Given the description of an element on the screen output the (x, y) to click on. 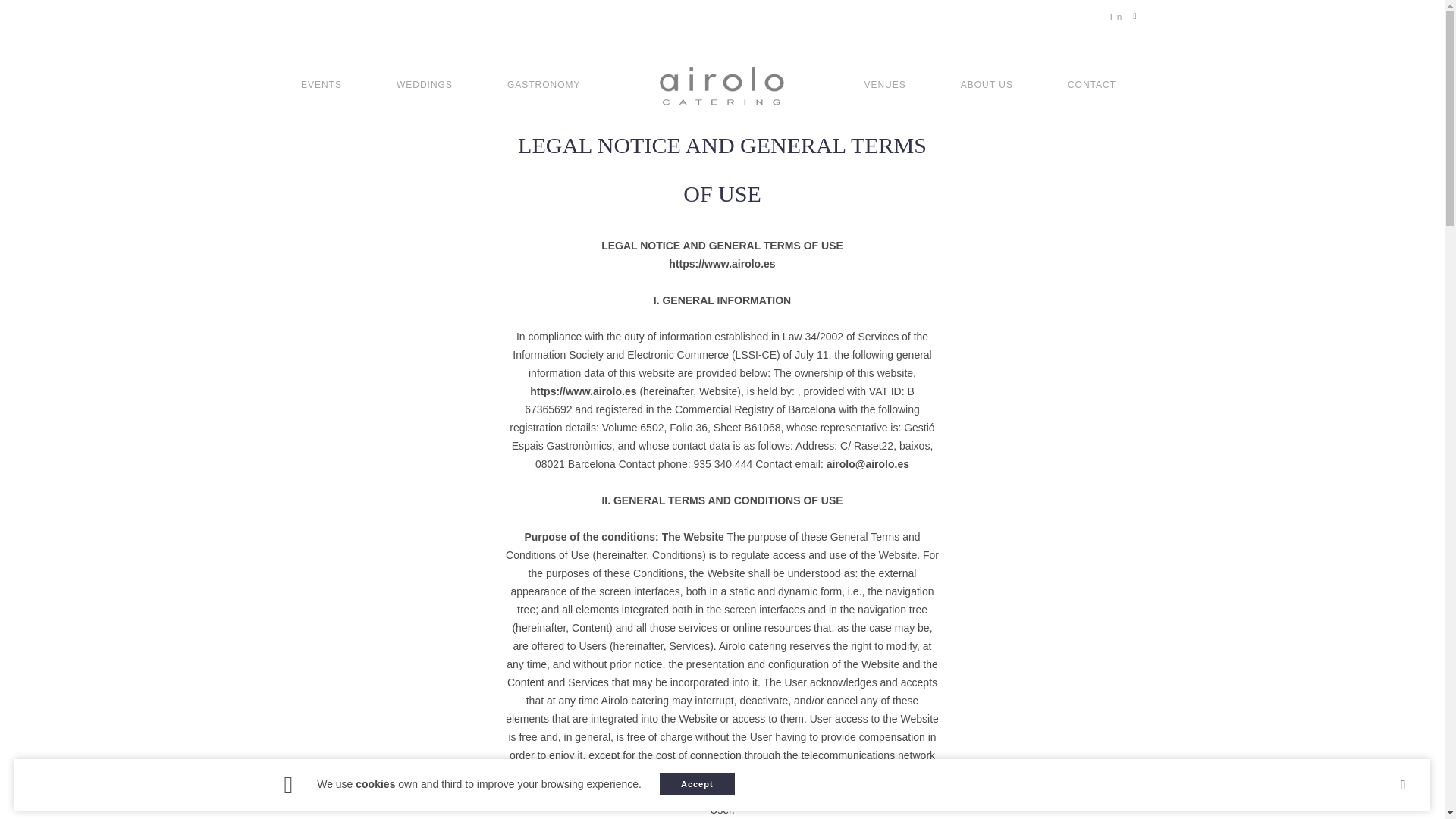
CONTACT (1091, 55)
En (1115, 17)
GASTRONOMY (543, 55)
ABOUT US (985, 55)
EVENTS (320, 55)
VENUES (884, 55)
WEDDINGS (424, 55)
Accept (697, 784)
cookies (374, 784)
